Given the description of an element on the screen output the (x, y) to click on. 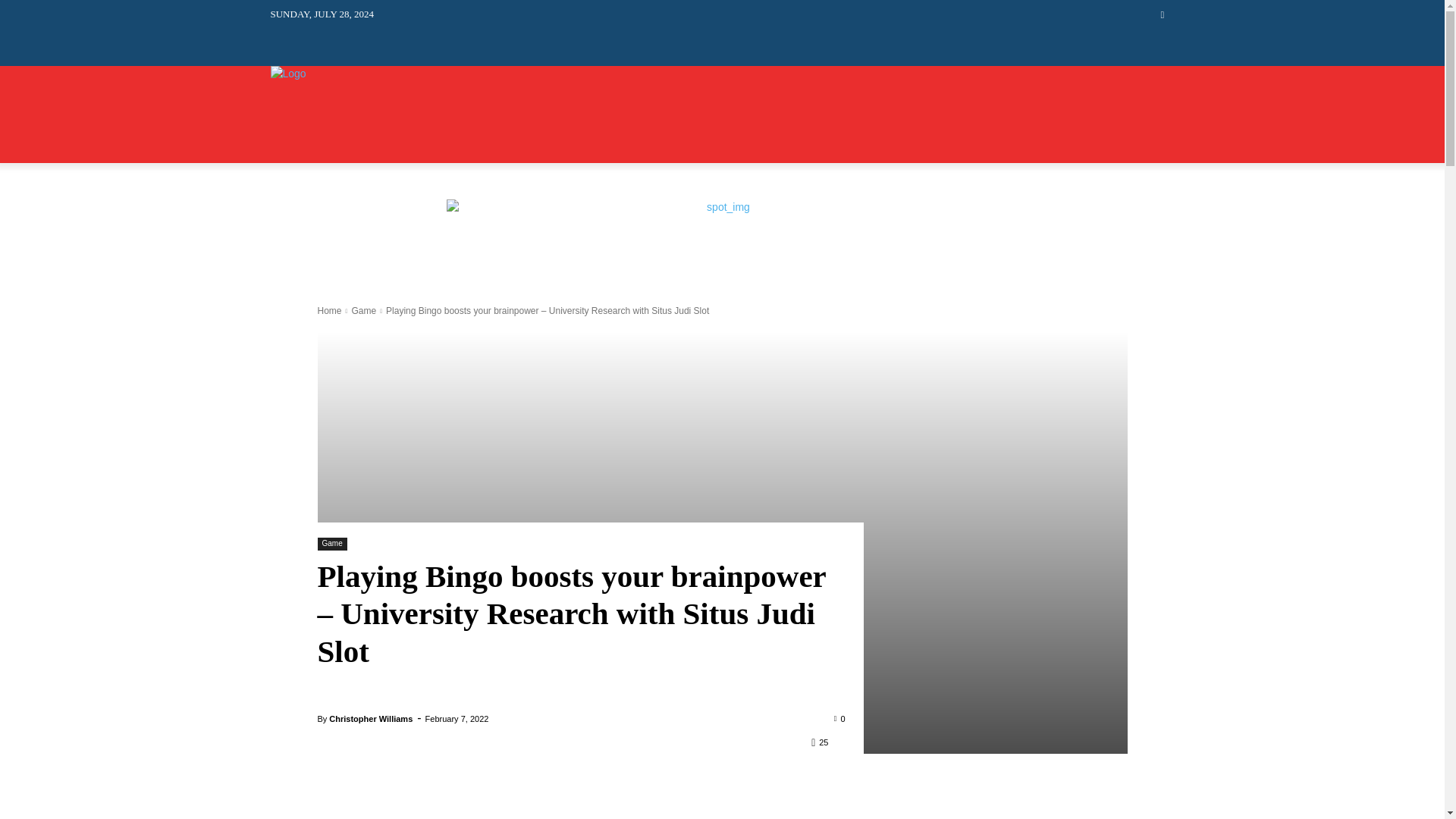
Game (362, 310)
View all posts in Game (362, 310)
Home (328, 310)
